Given the description of an element on the screen output the (x, y) to click on. 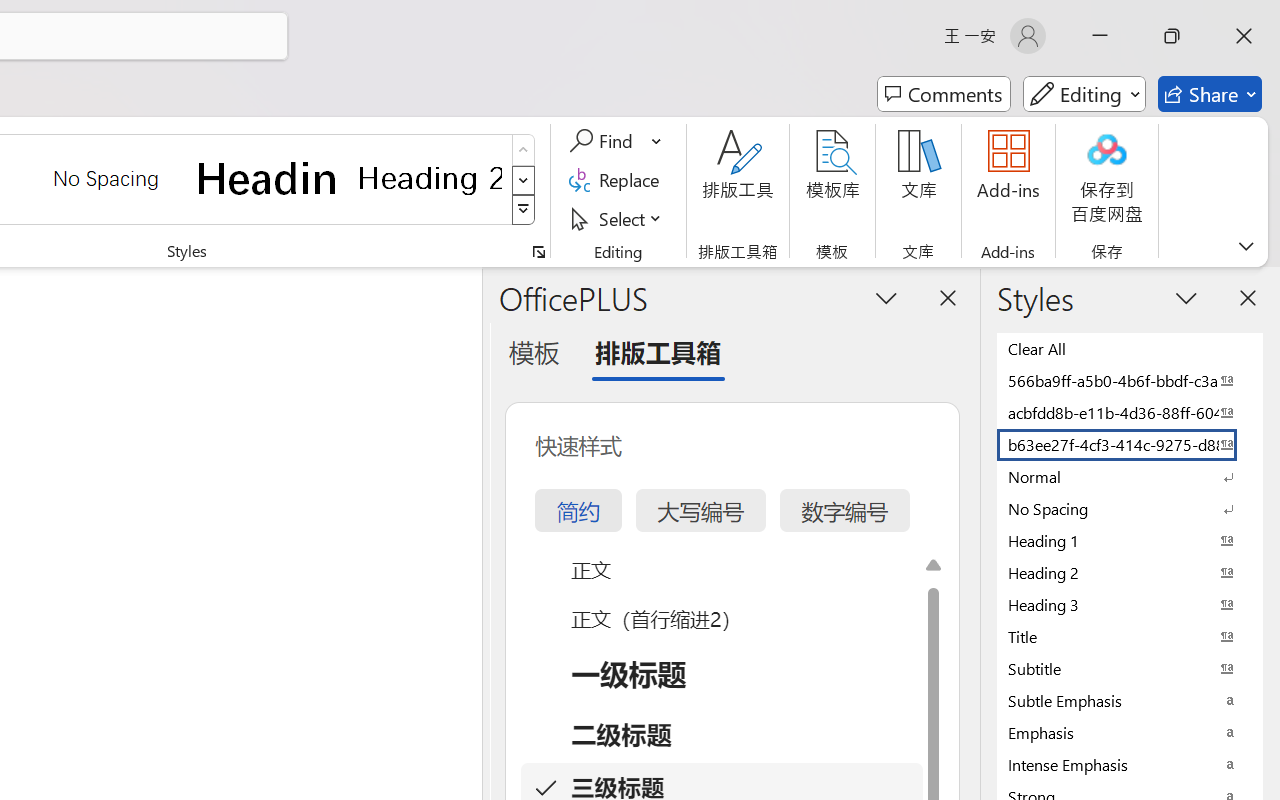
Subtle Emphasis (1130, 700)
566ba9ff-a5b0-4b6f-bbdf-c3ab41993fc2 (1130, 380)
